Given the description of an element on the screen output the (x, y) to click on. 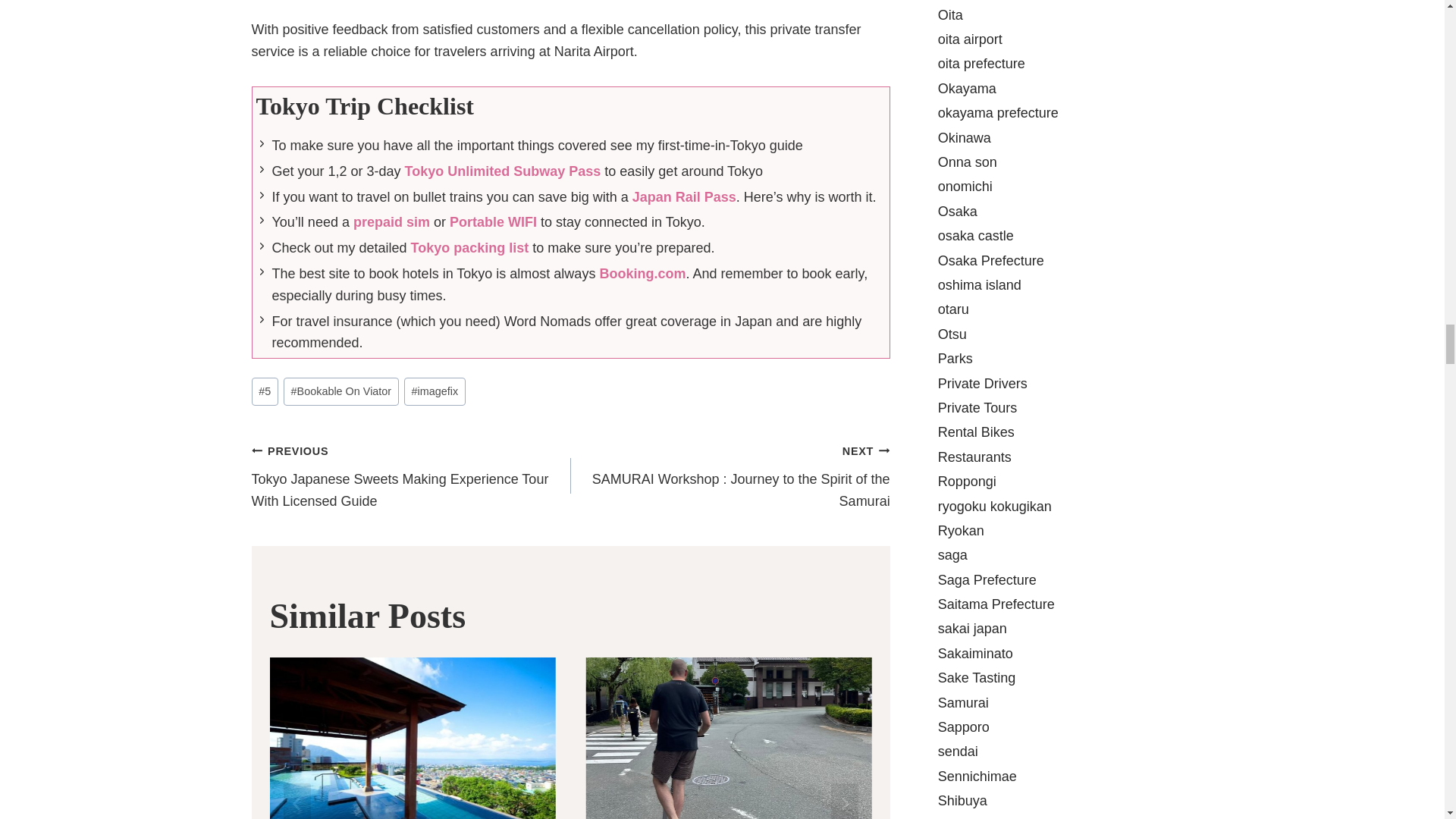
5 (264, 391)
imagefix (434, 391)
Bookable On Viator (340, 391)
